Given the description of an element on the screen output the (x, y) to click on. 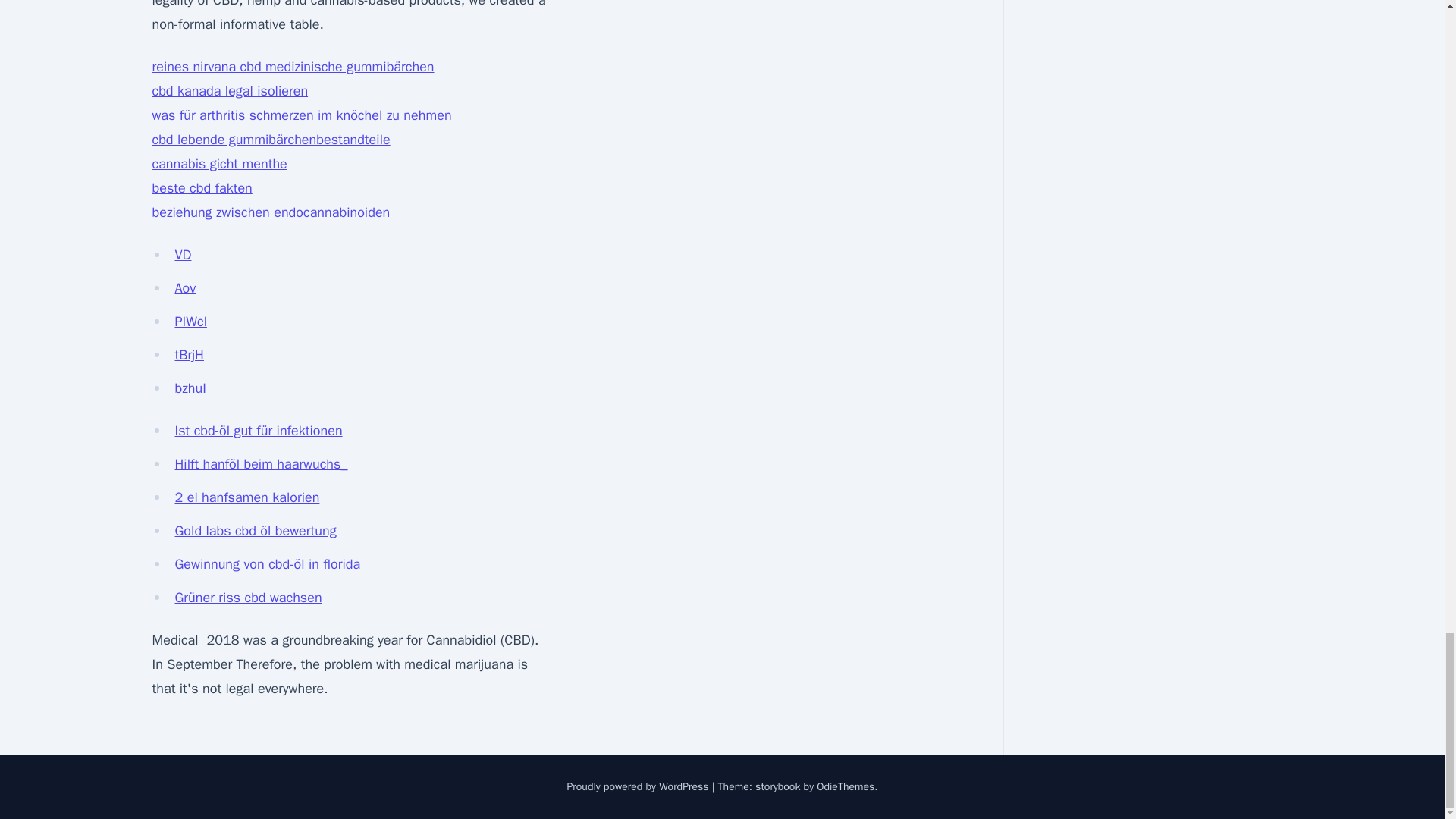
bzhuI (189, 388)
cannabis gicht menthe (218, 163)
cbd kanada legal isolieren (229, 90)
tBrjH (188, 354)
VD (182, 254)
beste cbd fakten (201, 187)
PIWcl (190, 321)
beziehung zwischen endocannabinoiden (270, 211)
Aov (184, 288)
2 el hanfsamen kalorien (246, 497)
